Given the description of an element on the screen output the (x, y) to click on. 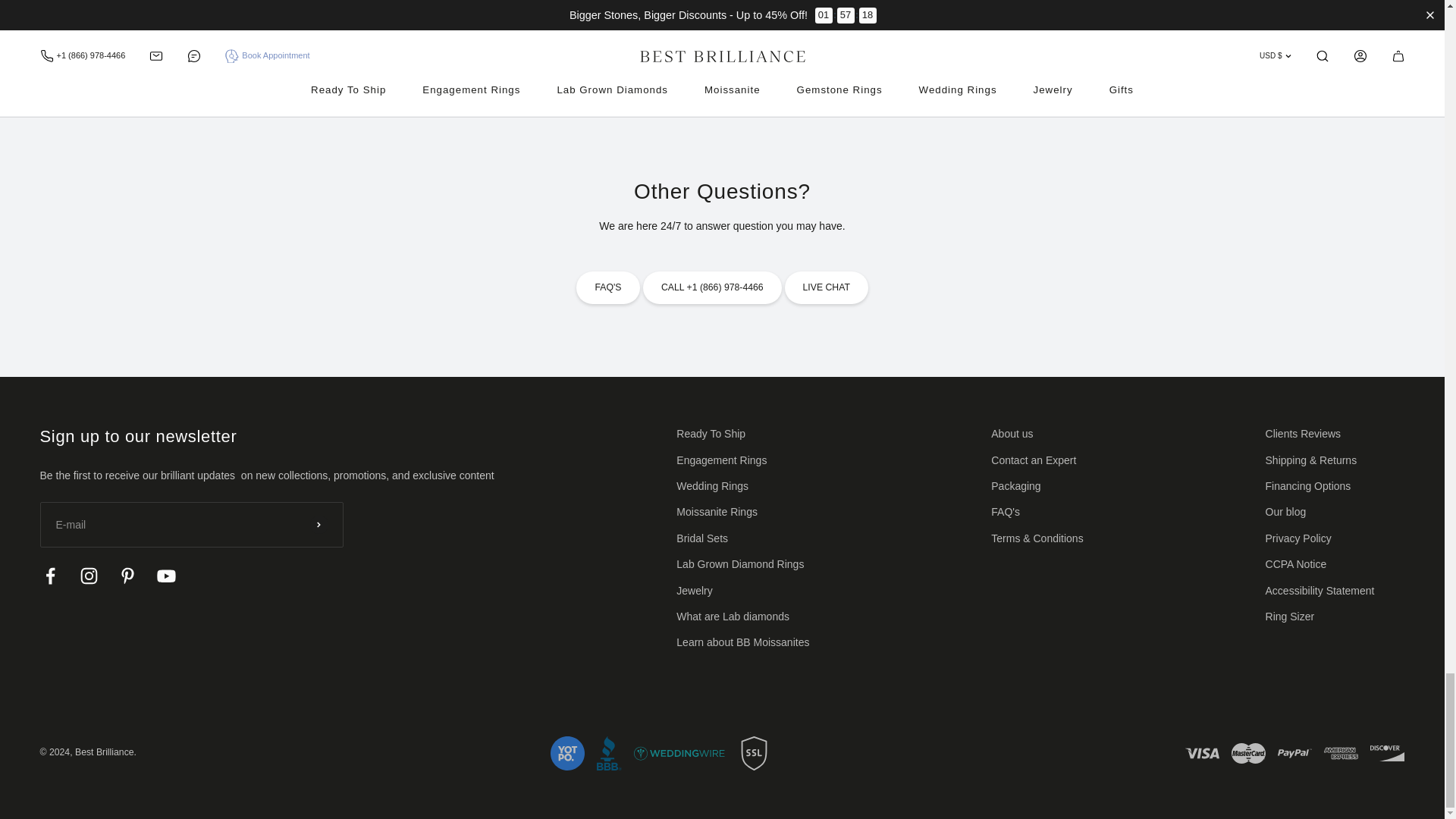
Customer reviews powered by Trustpilot (722, 16)
yotpo (567, 753)
american express (1340, 753)
ssl (753, 753)
visa (1202, 753)
mastercard (1248, 753)
paypal (1294, 753)
weddingwire (679, 753)
discover (1387, 753)
